Given the description of an element on the screen output the (x, y) to click on. 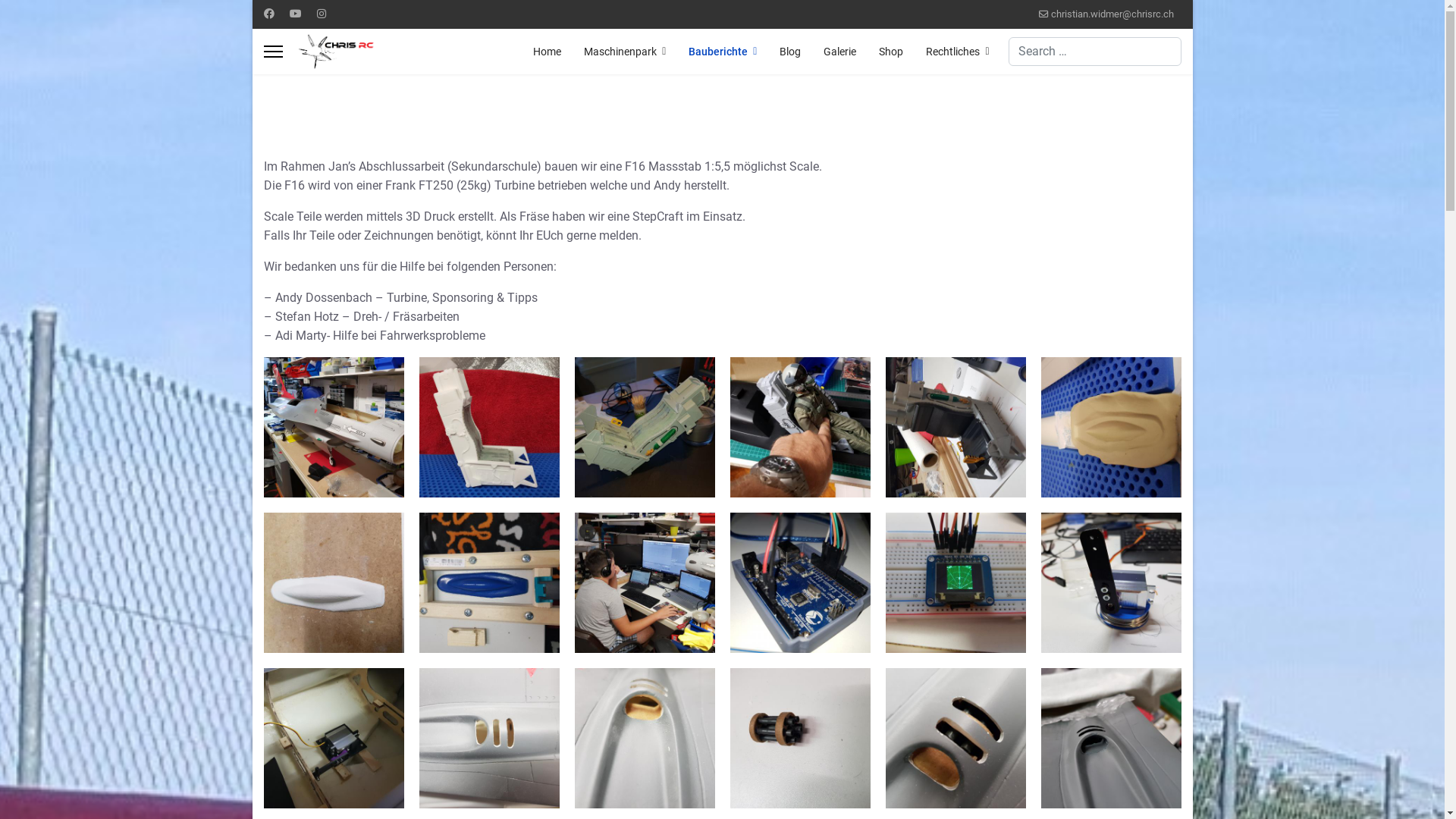
20181012 175701 Element type: hover (799, 427)
20181014 154824 Element type: hover (955, 427)
20181019 085055 Element type: hover (333, 582)
Menu Element type: hover (272, 51)
Galerie Element type: text (839, 51)
20181103 153957 Element type: hover (1110, 582)
20181020 161150 Element type: hover (488, 582)
20181104 100531 Element type: hover (333, 738)
20181023 201018 Element type: hover (799, 582)
Rechtliches Element type: text (951, 51)
20181113 204320 Element type: hover (1110, 738)
20181112 215023 Element type: hover (955, 738)
20181018 211024 Element type: hover (1110, 427)
20181112 224817 Element type: hover (799, 738)
20181021 175100 Element type: hover (644, 582)
Home Element type: text (546, 51)
christian.widmer@chrisrc.ch Element type: text (1112, 13)
20181008 114700 Element type: hover (644, 427)
Shop Element type: text (890, 51)
Maschinenpark Element type: text (624, 51)
20181111 145834 Element type: hover (488, 738)
Blog Element type: text (790, 51)
20180921 130111 Element type: hover (333, 427)
20181112 212413 Element type: hover (644, 738)
20181023 204108 Element type: hover (955, 582)
Bauberichte Element type: text (722, 51)
20181005 141955 Element type: hover (488, 427)
